Given the description of an element on the screen output the (x, y) to click on. 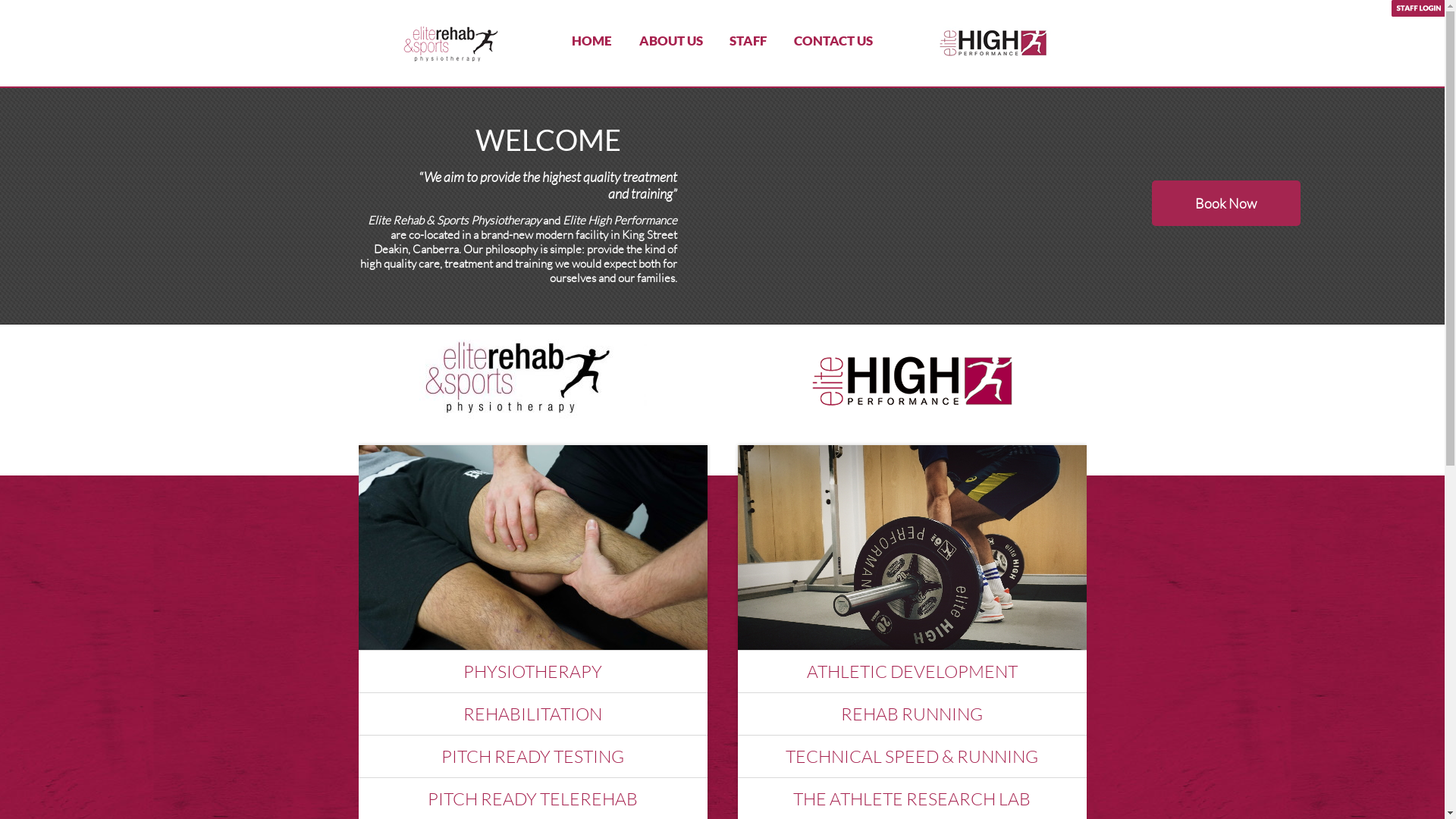
ELITE REHAB & SPORTS Element type: text (450, 43)
ABOUT US Element type: text (670, 40)
STAFF Element type: text (747, 40)
PITCH READY TESTING Element type: text (531, 755)
REHABILITATION Element type: text (531, 713)
ELITE HIGH PERFORMANCE Element type: text (993, 43)
Book Now Element type: text (1225, 202)
PHYSIOTHERAPY Element type: text (531, 670)
TECHNICAL SPEED & RUNNING Element type: text (911, 755)
HOME Element type: text (591, 40)
REHAB RUNNING Element type: text (911, 713)
CONTACT US Element type: text (832, 40)
ATHLETIC DEVELOPMENT Element type: text (911, 670)
